Given the description of an element on the screen output the (x, y) to click on. 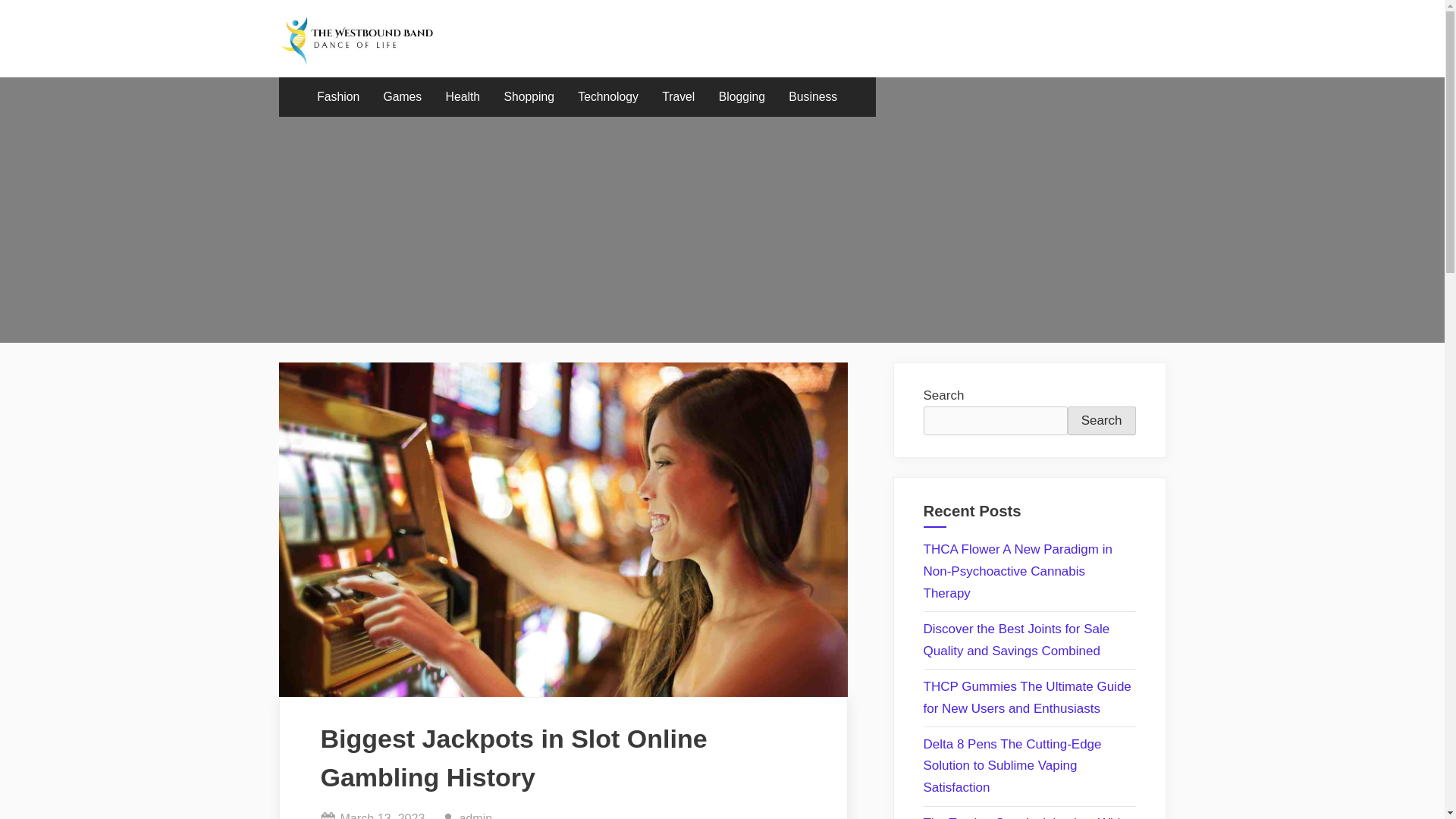
Technology (607, 97)
Games (402, 97)
Health (462, 97)
Shopping (475, 813)
Fashion (528, 97)
